Given the description of an element on the screen output the (x, y) to click on. 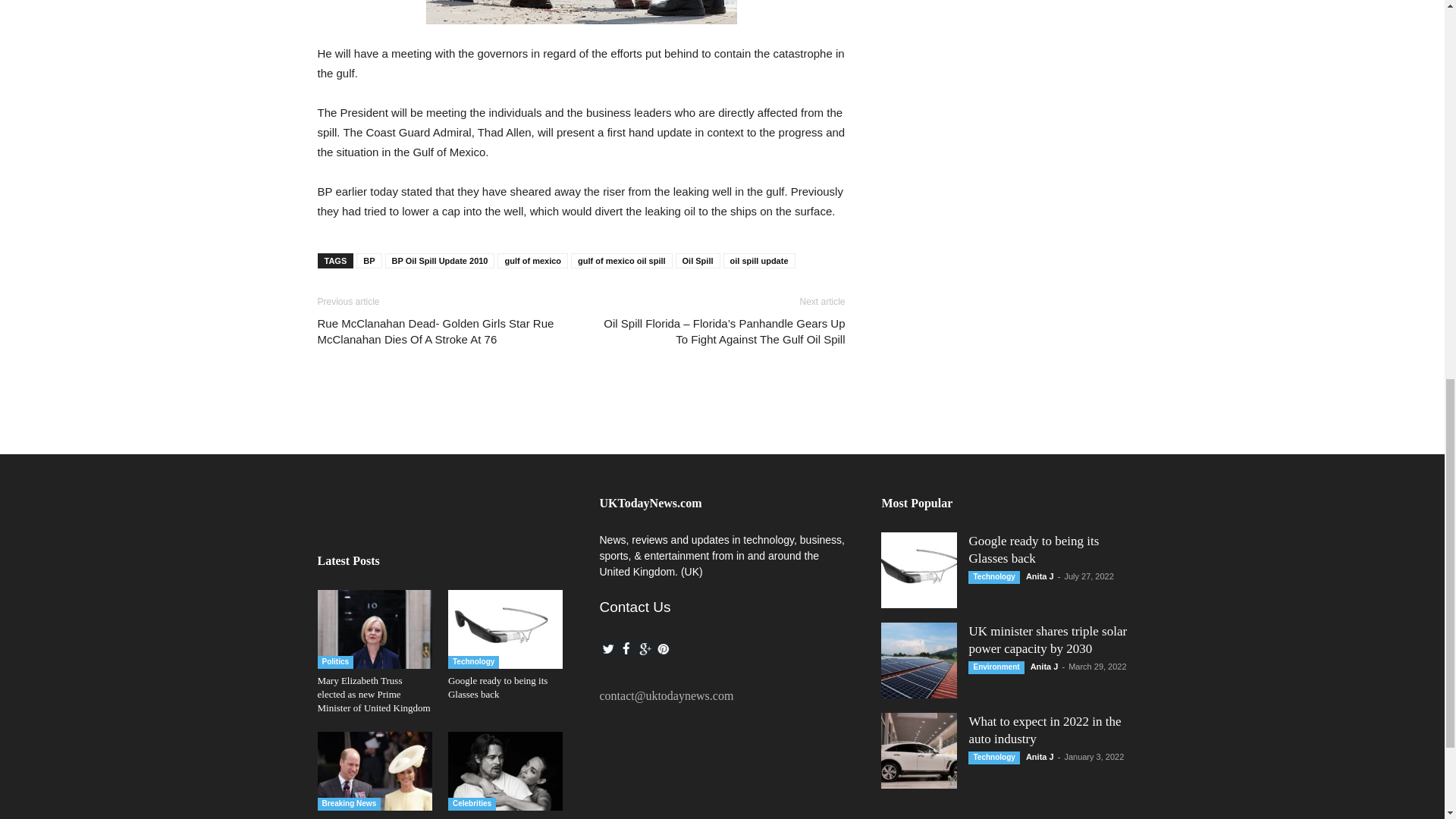
Obama to assess the efforts on the oil spill (581, 12)
Google ready to being its Glasses back (505, 629)
Google ready to being its Glasses back (497, 687)
